Given the description of an element on the screen output the (x, y) to click on. 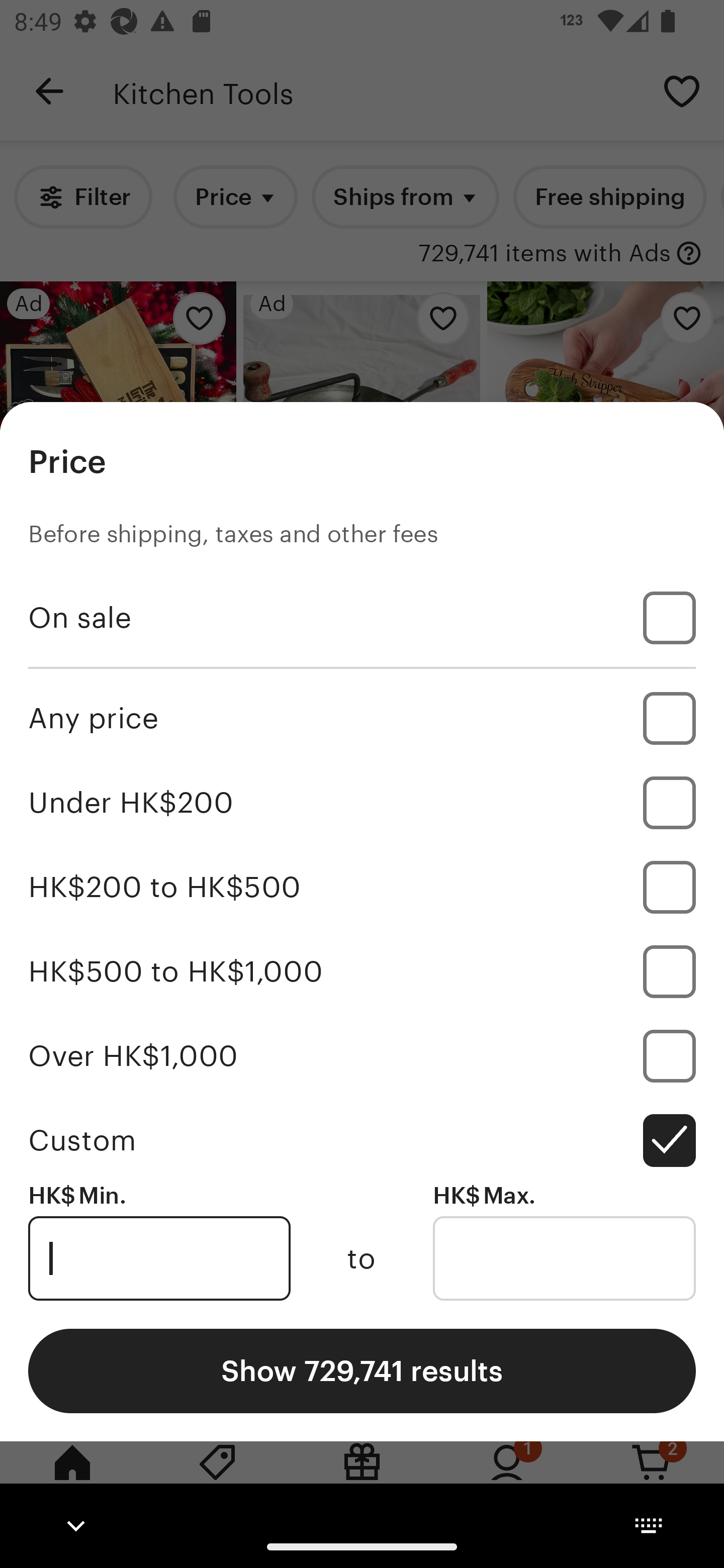
On sale (362, 617)
Any price (362, 717)
Under HK$200 (362, 802)
HK$200 to HK$500 (362, 887)
HK$500 to HK$1,000 (362, 970)
Over HK$1,000 (362, 1054)
Custom (362, 1139)
Show 729,741 results (361, 1370)
